Given the description of an element on the screen output the (x, y) to click on. 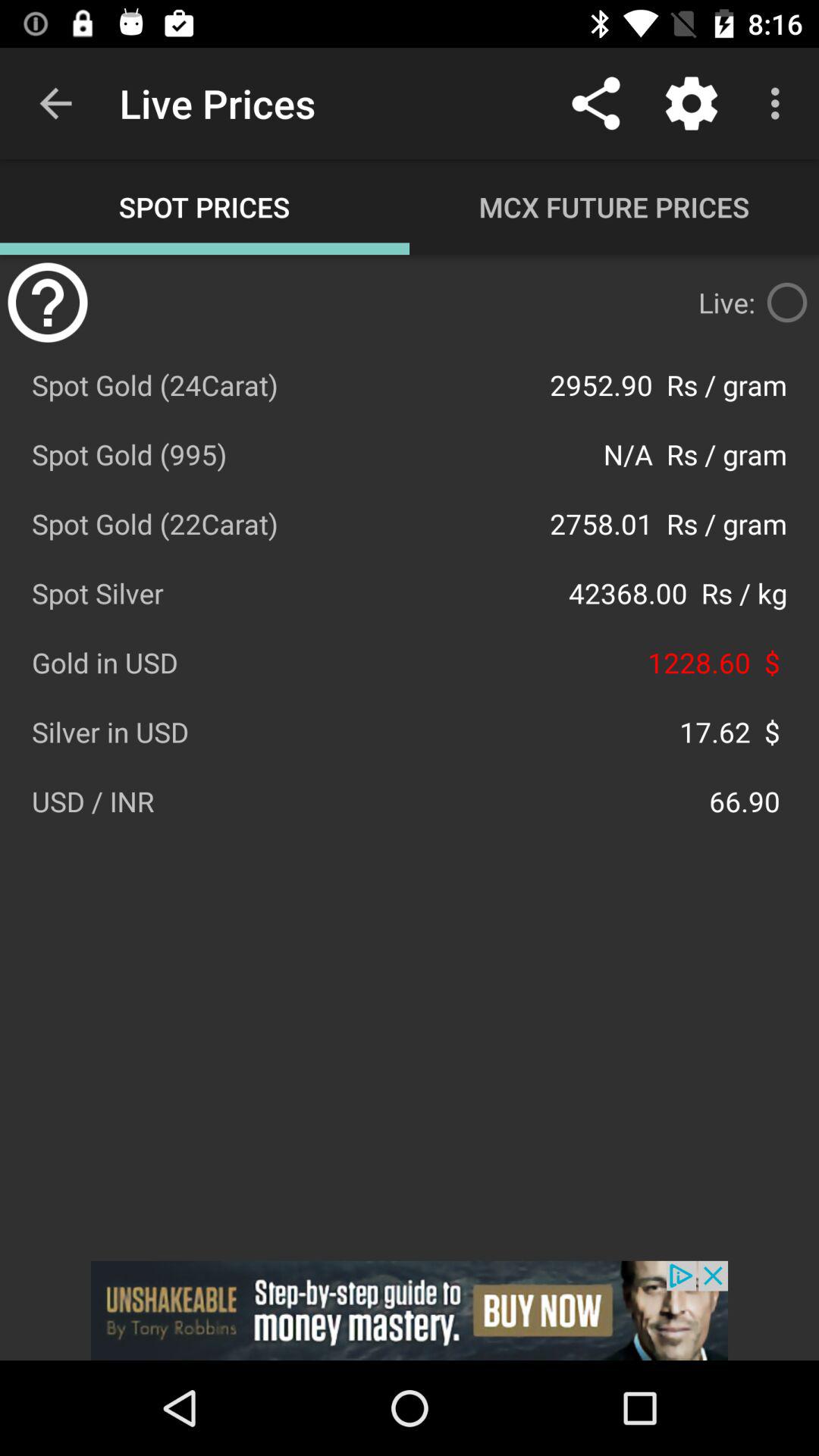
live button (787, 302)
